Given the description of an element on the screen output the (x, y) to click on. 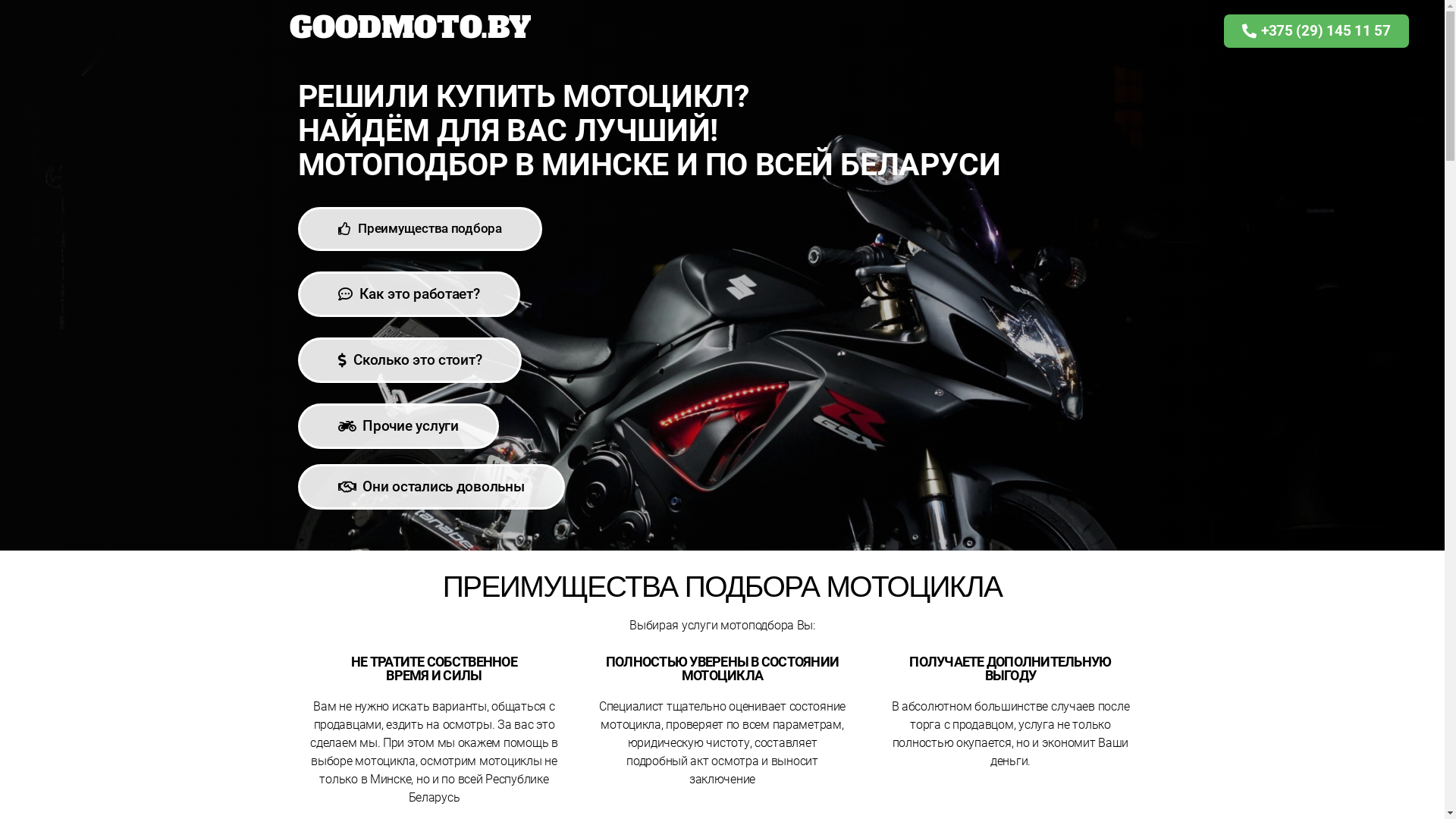
+375 (29) 145 11 57 Element type: text (1315, 30)
